Given the description of an element on the screen output the (x, y) to click on. 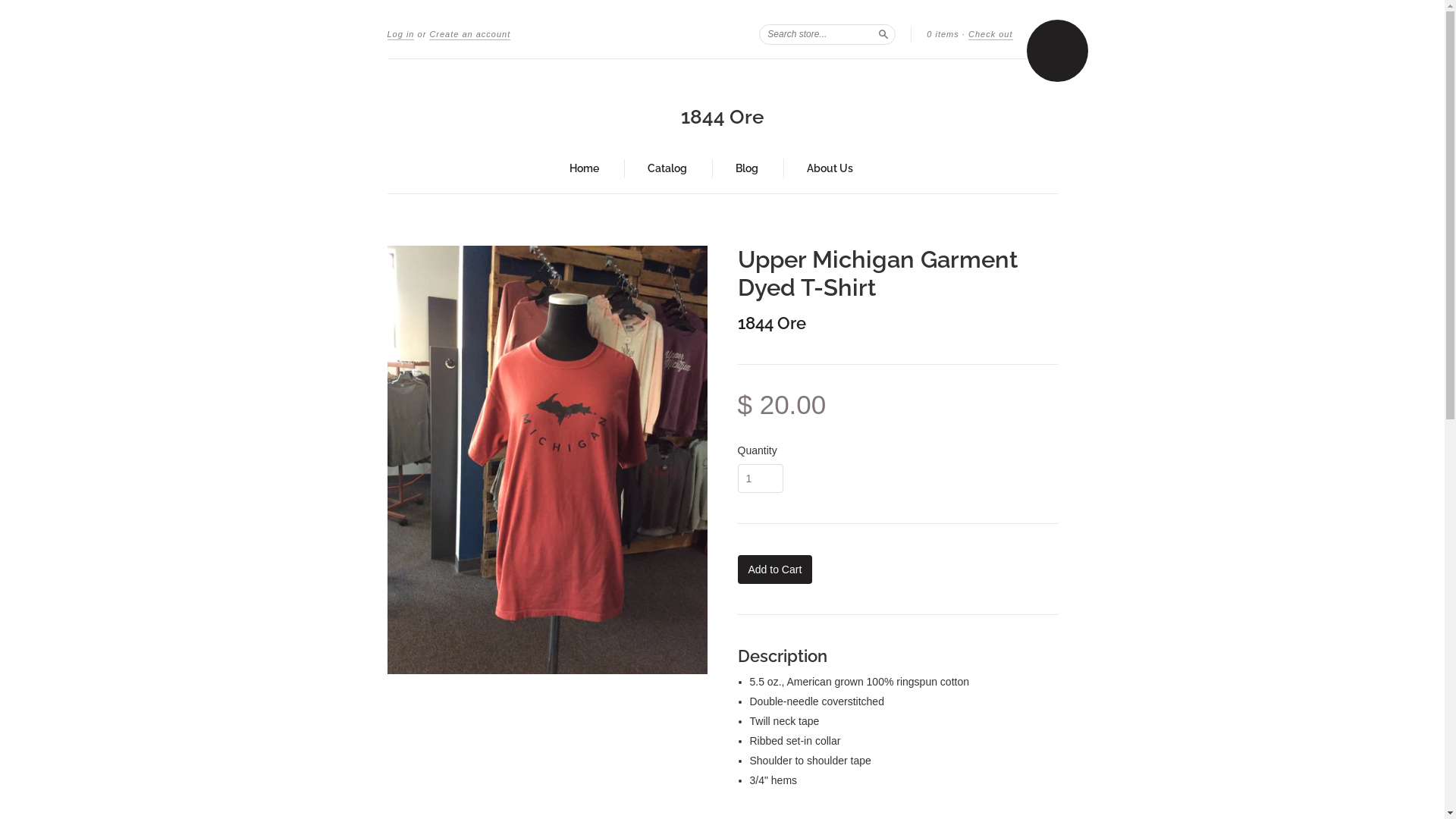
0 items Element type: text (942, 34)
About Us Element type: text (829, 168)
Search Element type: text (883, 33)
Catalog Element type: text (667, 168)
Blog Element type: text (746, 168)
Log in Element type: text (400, 34)
Create an account Element type: text (469, 34)
Add to Cart Element type: text (774, 569)
1844 Ore Element type: text (721, 116)
Check out Element type: text (990, 34)
1844 Ore Element type: text (771, 322)
Home Element type: text (583, 168)
